Given the description of an element on the screen output the (x, y) to click on. 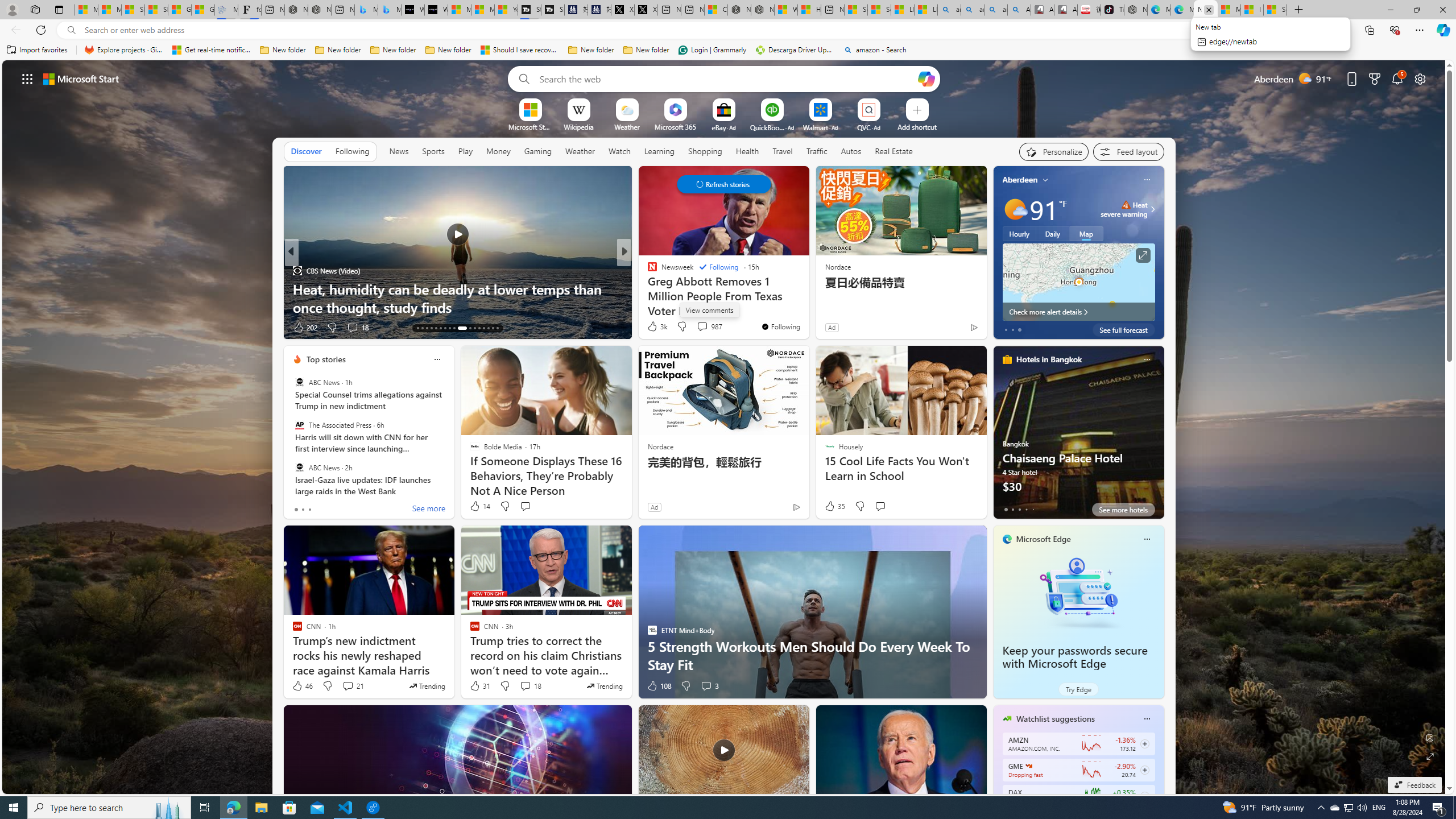
Gaming (537, 151)
Watch (619, 151)
All Cubot phones (1065, 9)
View comments 987 Comment (701, 326)
Following (352, 151)
Personalize your feed" (1054, 151)
35 Like (834, 505)
Copilot (Ctrl+Shift+.) (1442, 29)
See more (428, 509)
POLITICO (647, 270)
Health (746, 151)
Sports (432, 151)
AutomationID: tab-13 (417, 328)
